Given the description of an element on the screen output the (x, y) to click on. 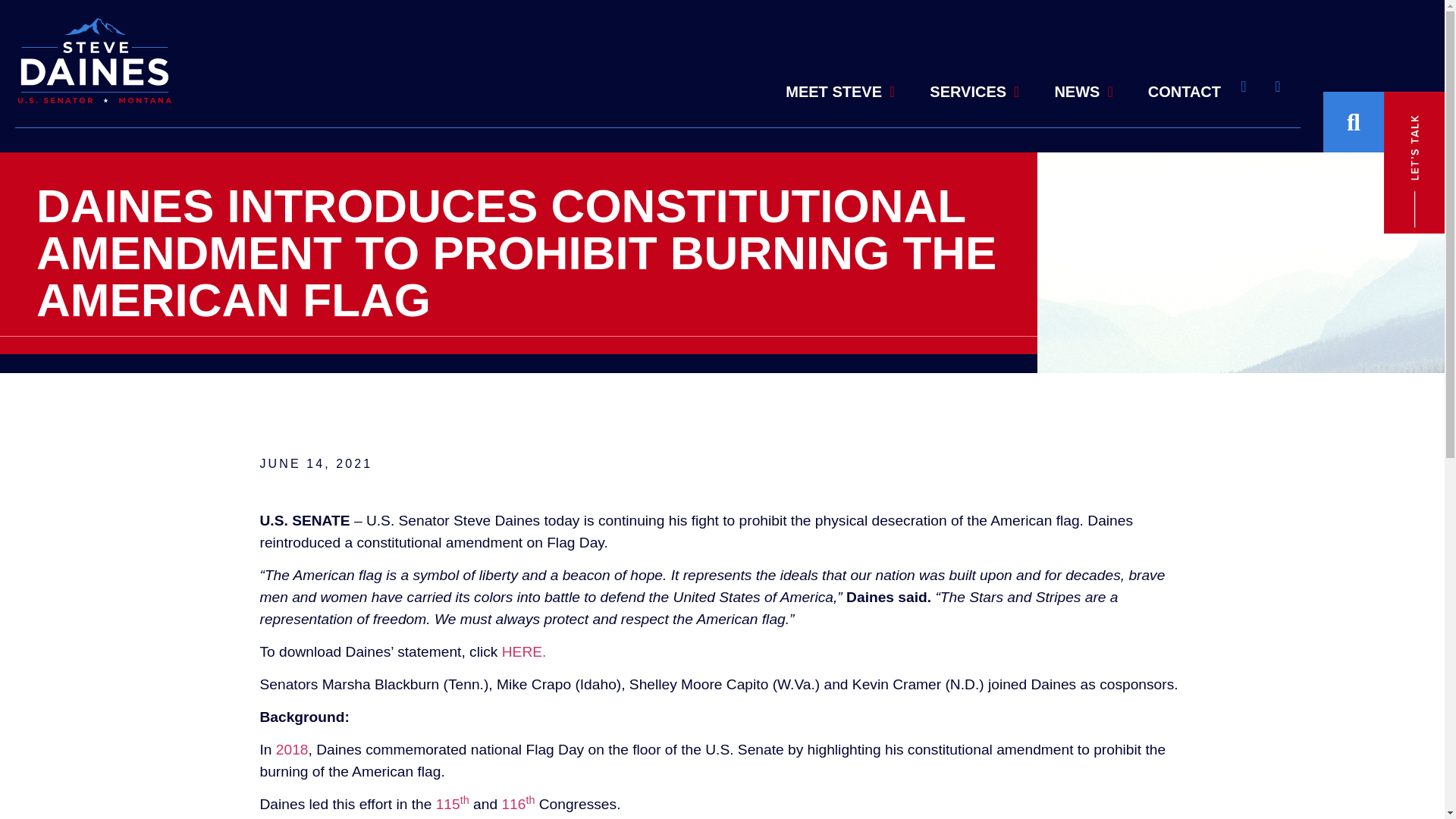
SERVICES (973, 64)
MEET STEVE (840, 59)
CONTACT (1184, 88)
NEWS (1082, 85)
